Given the description of an element on the screen output the (x, y) to click on. 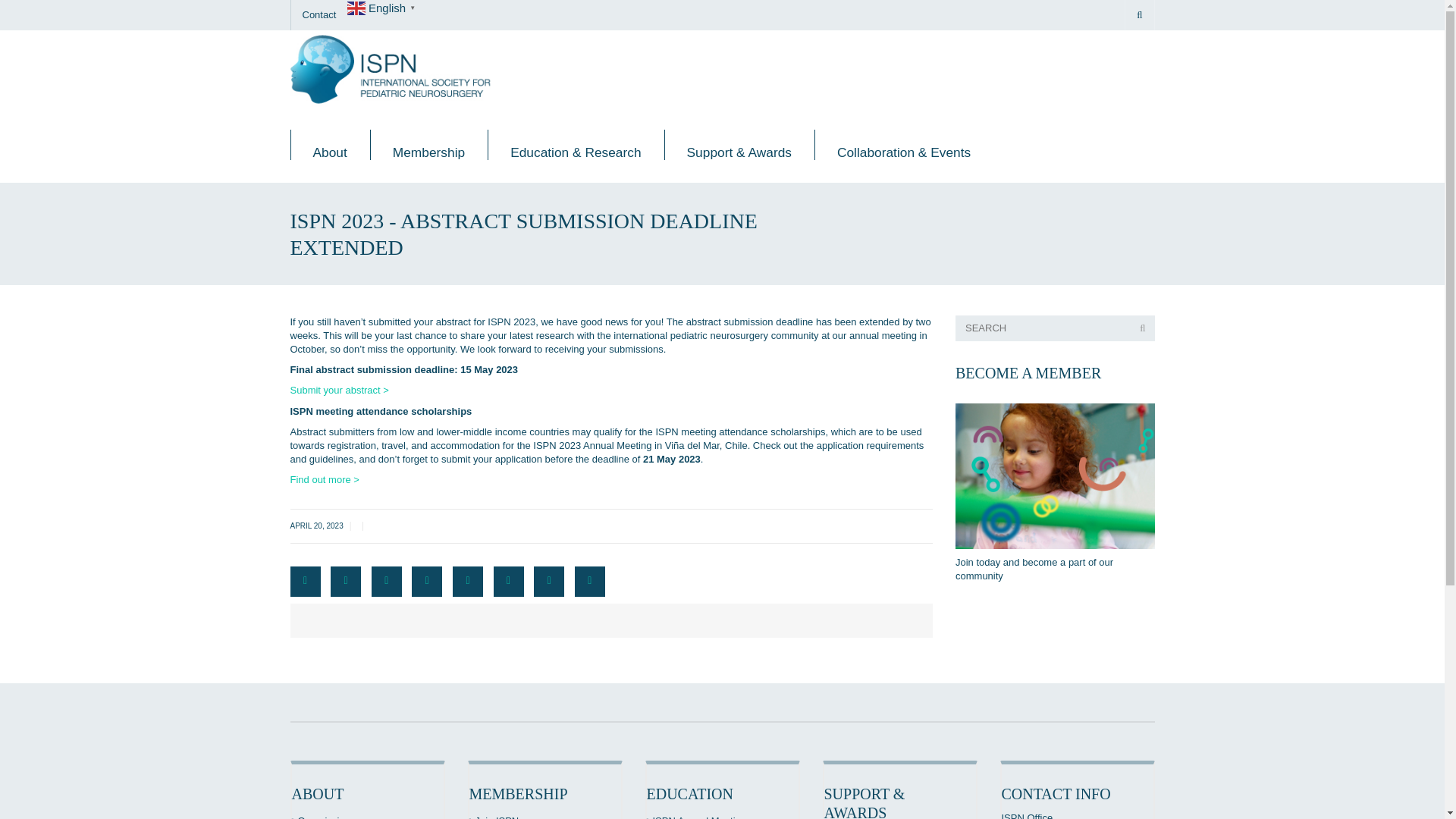
Share on Vk (549, 581)
Share on Tumblr (427, 581)
Share on Google Plus (467, 581)
ISPN 2023 - Abstract submission deadline extended - ISPN (389, 67)
Share on LinkedIn (386, 581)
Contact (318, 15)
Membership (428, 144)
Pin this (508, 581)
Share on Twitter (345, 581)
About (329, 144)
Email this (590, 581)
Share on Facebook (304, 581)
